Given the description of an element on the screen output the (x, y) to click on. 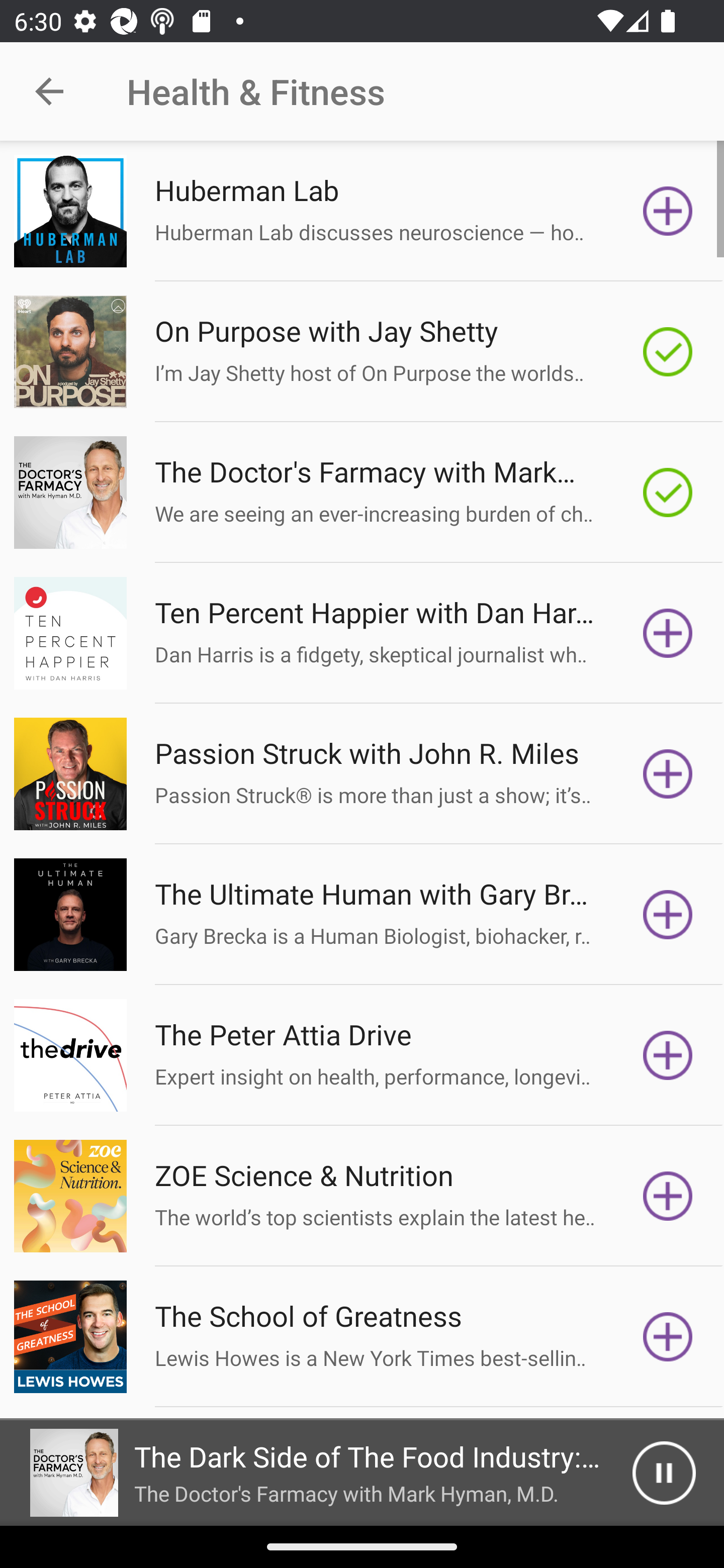
Navigate up (49, 91)
Subscribe (667, 211)
Subscribed (667, 350)
Subscribed (667, 491)
Subscribe (667, 633)
Subscribe (667, 773)
Subscribe (667, 913)
Subscribe (667, 1054)
Subscribe (667, 1195)
Subscribe (667, 1336)
Pause (663, 1472)
